Given the description of an element on the screen output the (x, y) to click on. 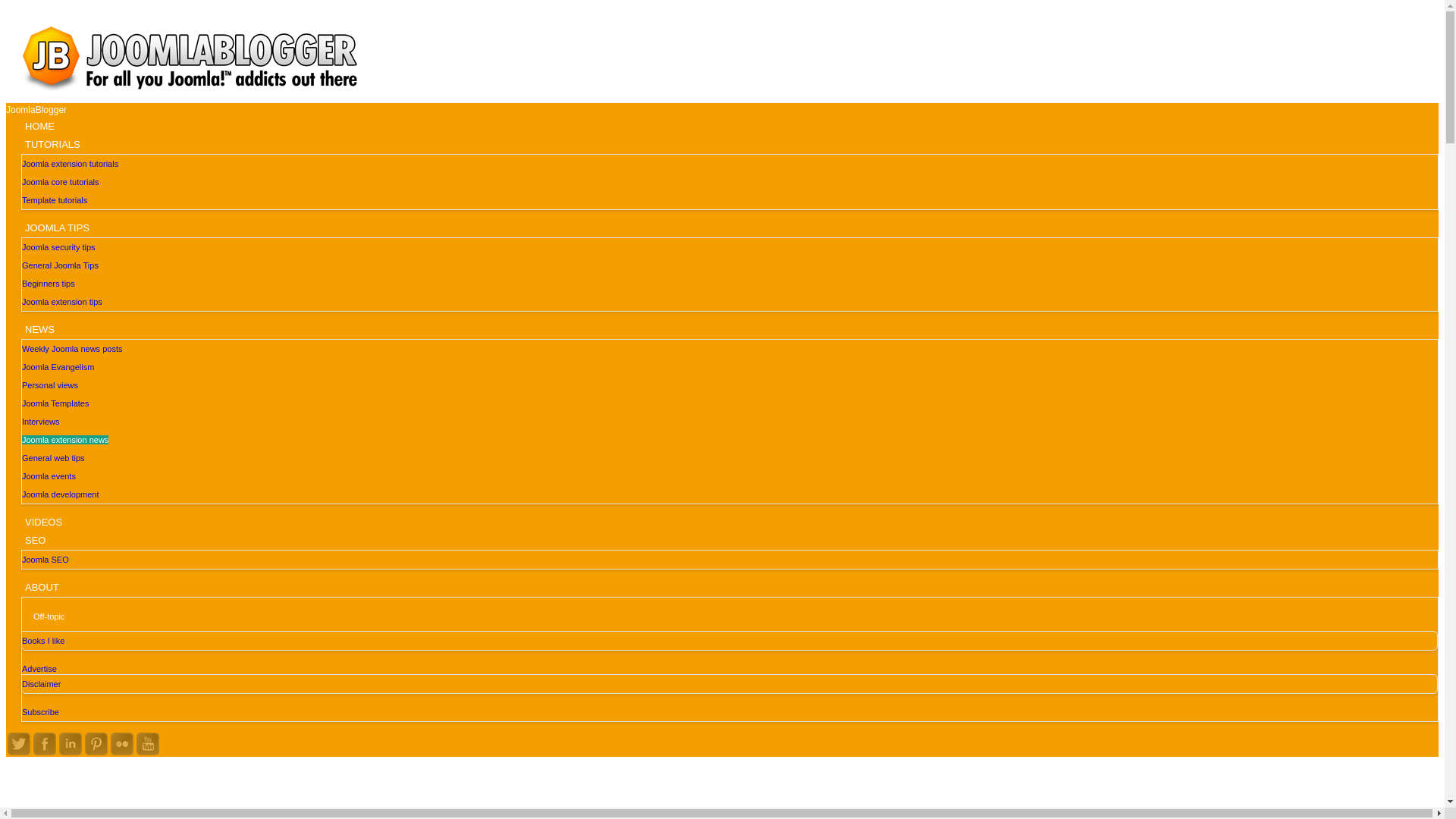
Joomla extension tutorials (69, 163)
Joomla Templates (54, 402)
SEO (34, 538)
VIDEOS (43, 519)
Advertisement (721, 797)
HOME (39, 124)
Joomla core tutorials (60, 181)
TUTORIALS (52, 142)
Beginners tips (48, 283)
Joomla extension tips (61, 301)
General web tips (52, 457)
Joomla events (48, 475)
ABOUT (41, 585)
Joomla extension news (64, 439)
Joomla Evangelism (57, 366)
